Given the description of an element on the screen output the (x, y) to click on. 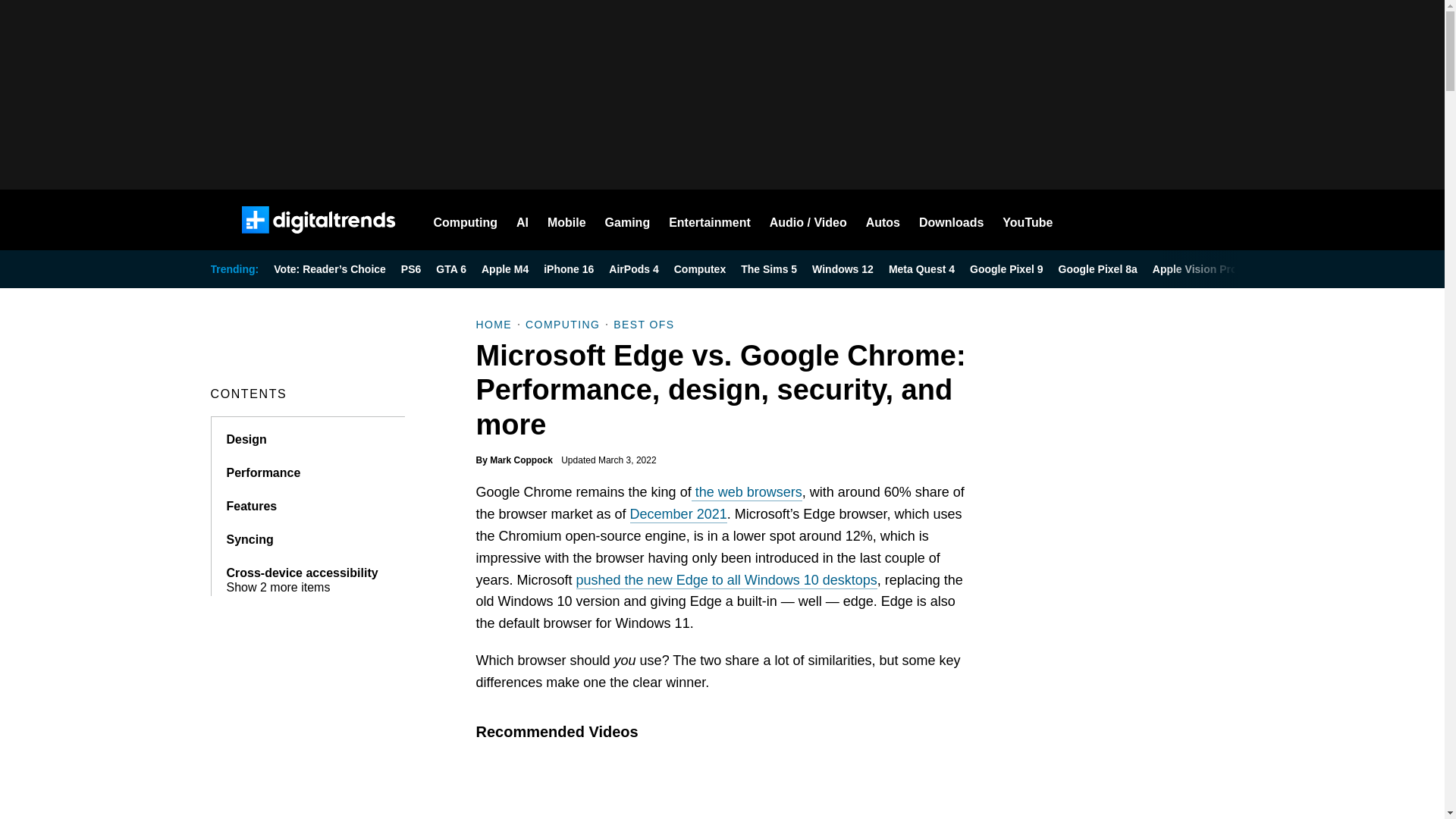
Computing (465, 219)
Downloads (951, 219)
Entertainment (709, 219)
